Given the description of an element on the screen output the (x, y) to click on. 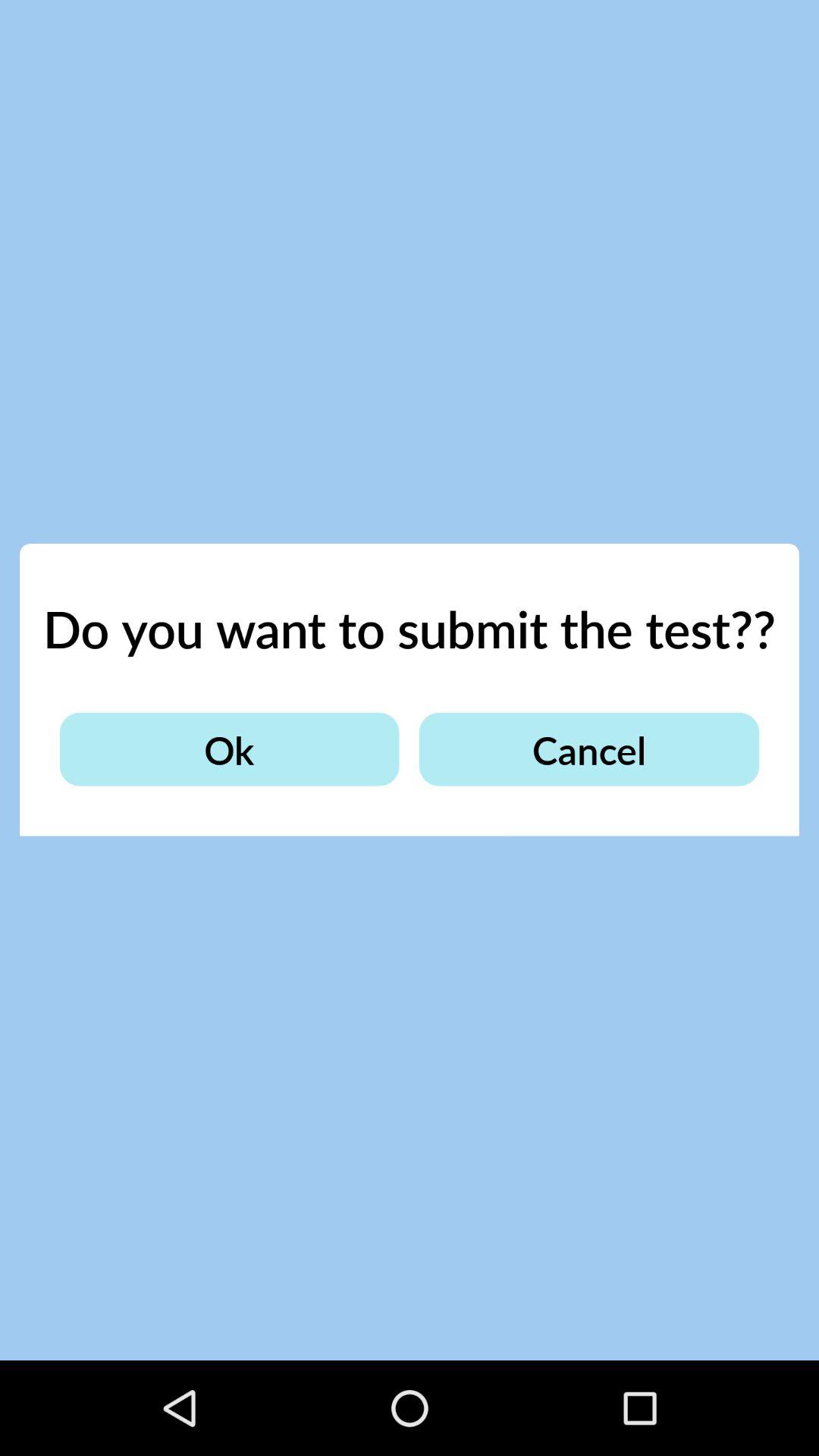
open item on the right (589, 749)
